Given the description of an element on the screen output the (x, y) to click on. 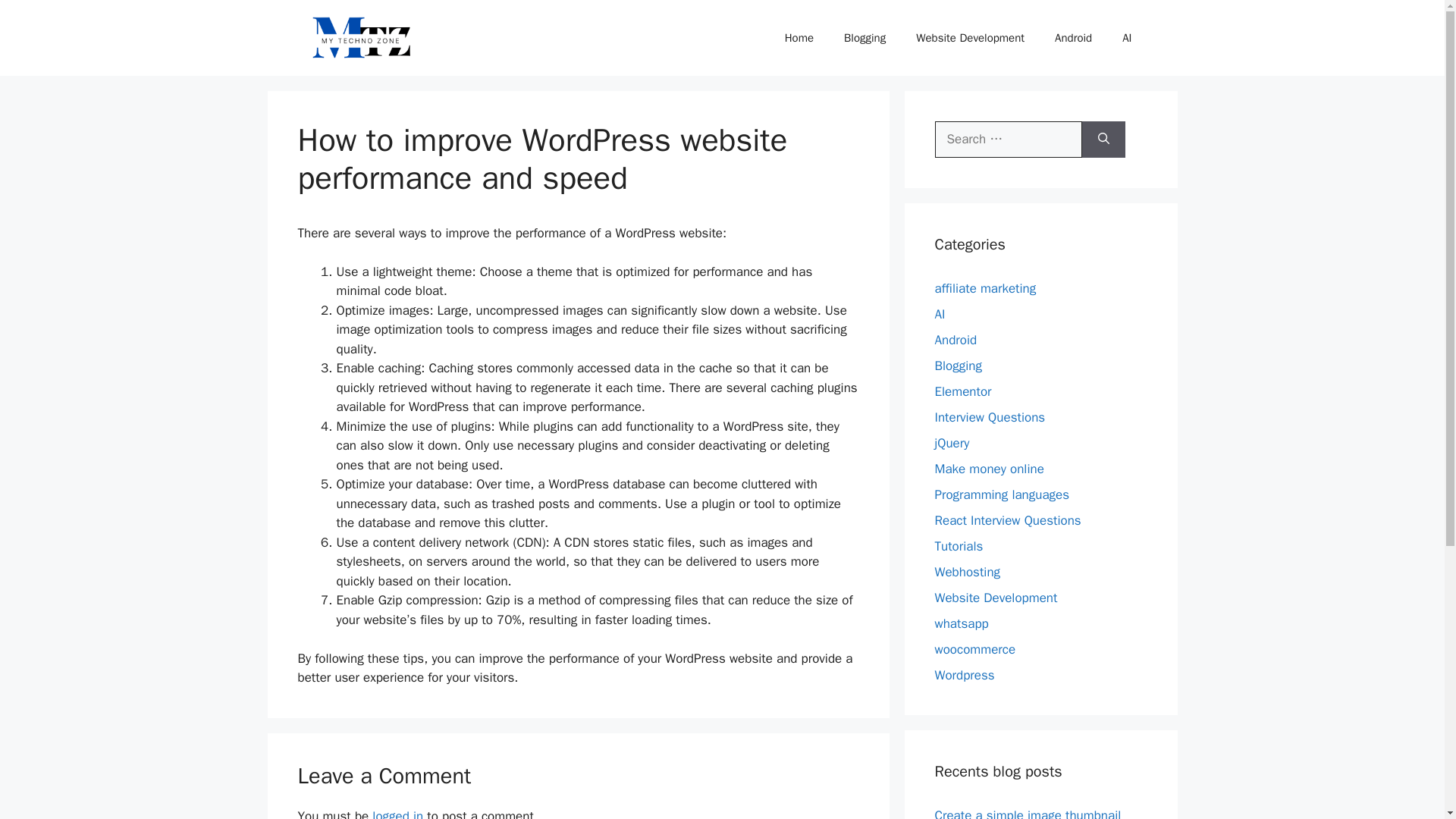
woocommerce (974, 649)
logged in (397, 813)
Home (799, 37)
Android (1072, 37)
Website Development (995, 597)
Tutorials (958, 546)
Android (955, 340)
Elementor (962, 391)
affiliate marketing (984, 288)
Wordpress (964, 675)
whatsapp (961, 623)
Programming languages (1001, 494)
Create a simple image thumbnail carousel (1027, 813)
Make money online (988, 468)
React Interview Questions (1007, 520)
